Given the description of an element on the screen output the (x, y) to click on. 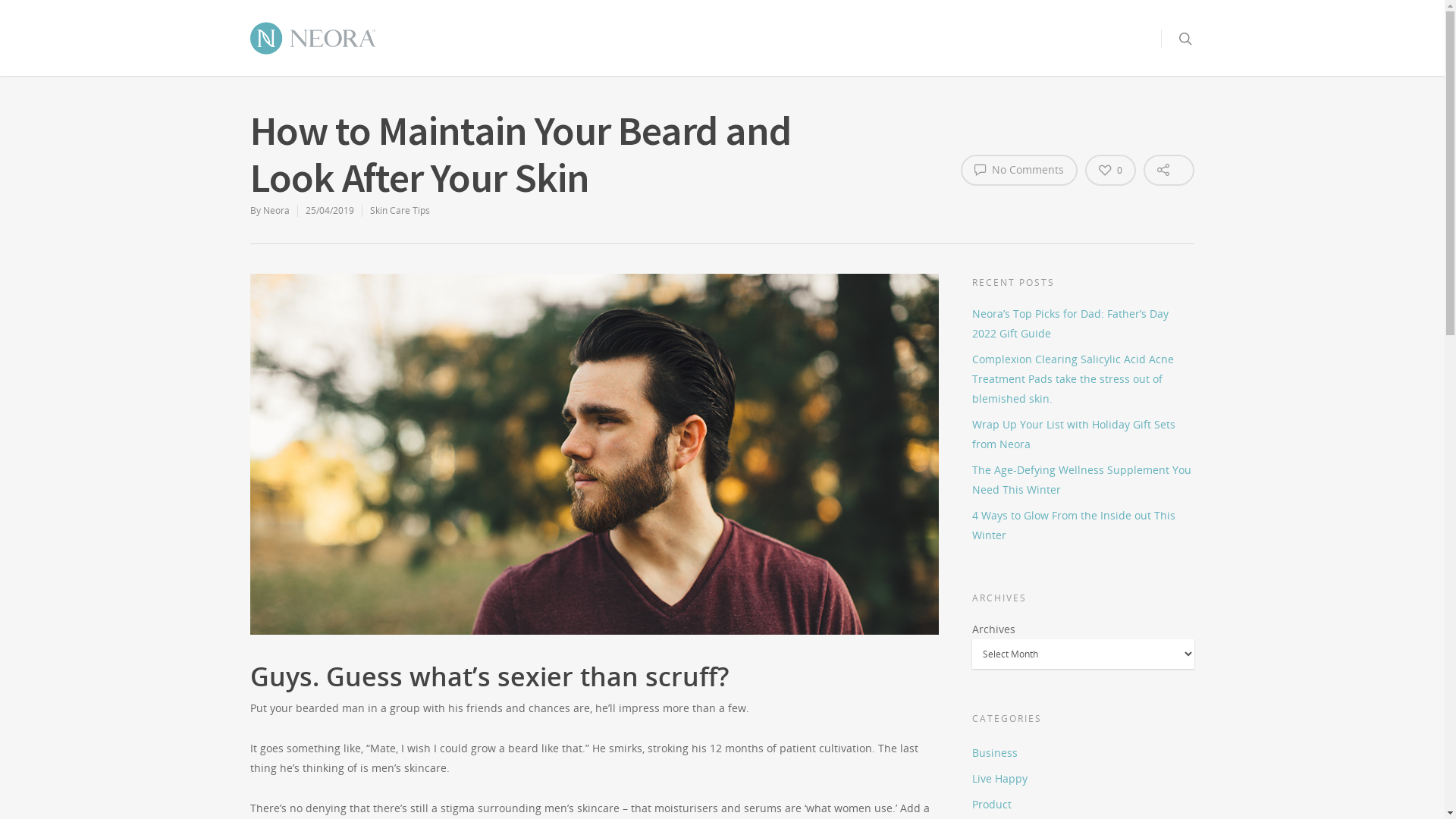
Neora Element type: text (276, 209)
4 Ways to Glow From the Inside out This Winter Element type: text (1083, 525)
0 Element type: text (1110, 169)
Business Element type: text (1083, 752)
Product Element type: text (1083, 804)
Wrap Up Your List with Holiday Gift Sets from Neora Element type: text (1083, 434)
Live Happy Element type: text (1083, 778)
The Age-Defying Wellness Supplement You Need This Winter Element type: text (1083, 479)
No Comments Element type: text (1018, 169)
Skin Care Tips Element type: text (399, 209)
